Given the description of an element on the screen output the (x, y) to click on. 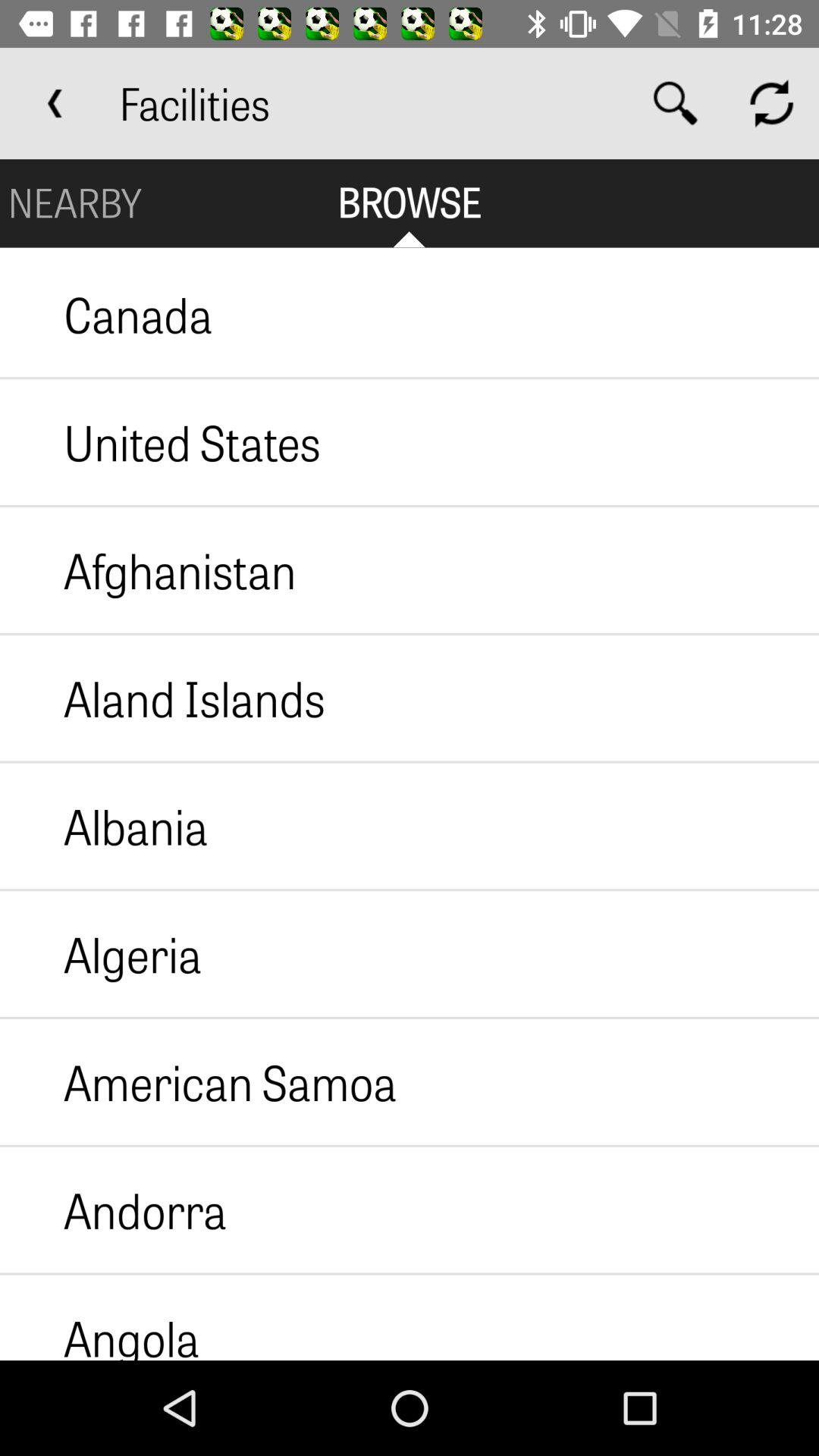
open the icon below albania (100, 953)
